Given the description of an element on the screen output the (x, y) to click on. 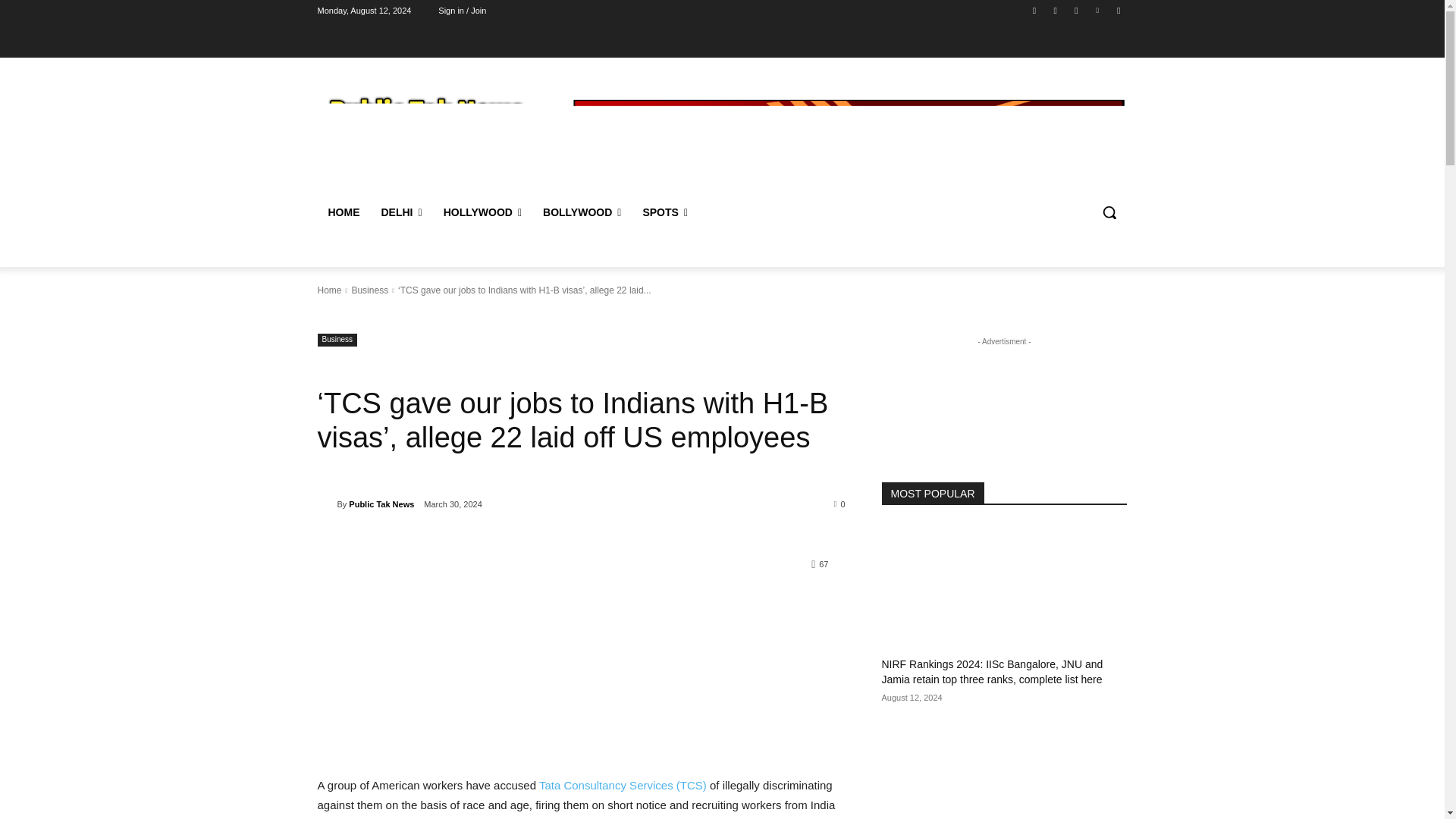
HOME (343, 212)
Twitter (1075, 9)
Vimeo (1097, 9)
Instagram (1055, 9)
DELHI (400, 212)
Youtube (1117, 9)
Facebook (1034, 9)
